Given the description of an element on the screen output the (x, y) to click on. 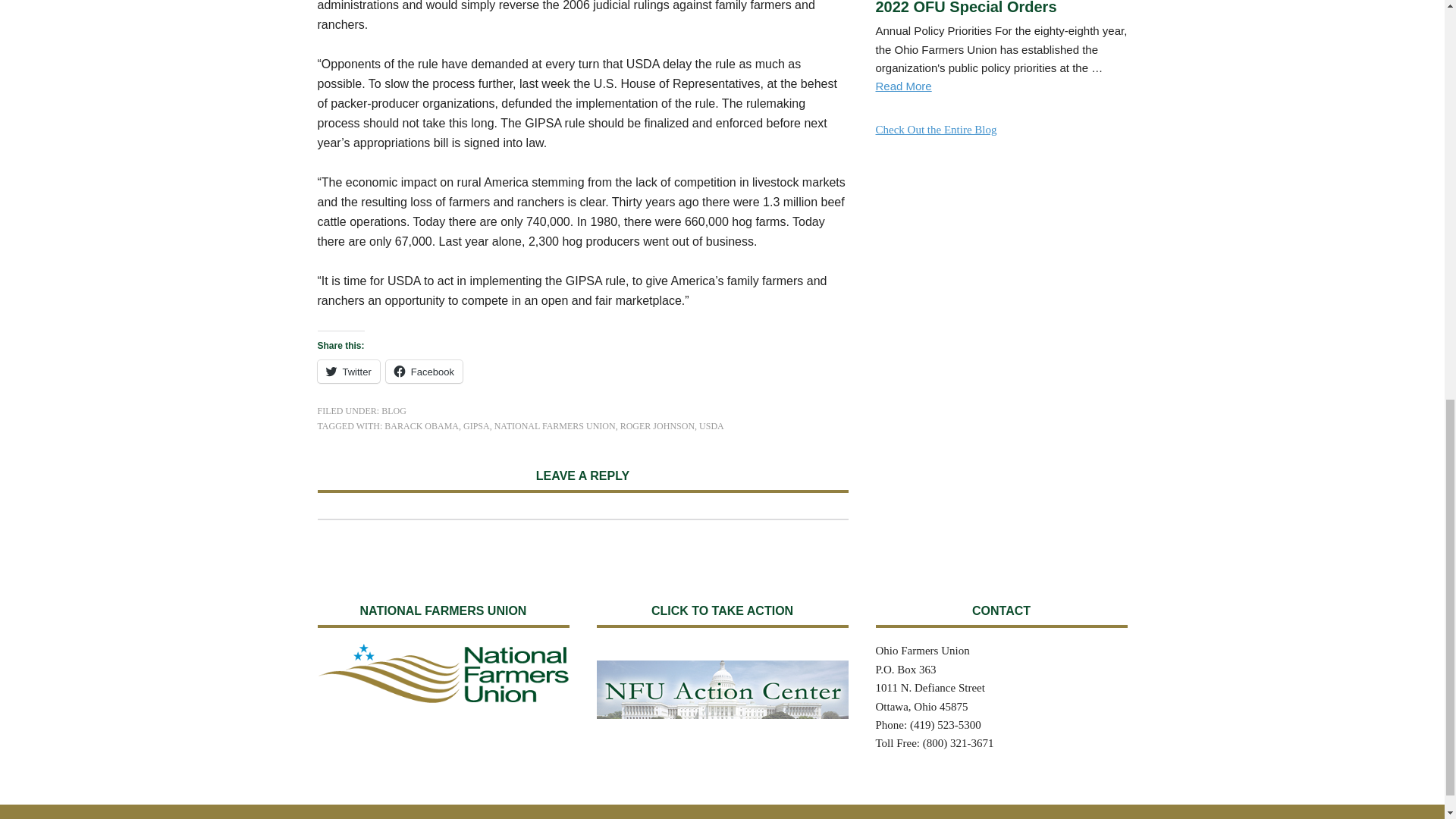
Click to share on Twitter (347, 371)
Twitter (347, 371)
Blog (935, 129)
Click to share on Facebook (424, 371)
Facebook (424, 371)
